Given the description of an element on the screen output the (x, y) to click on. 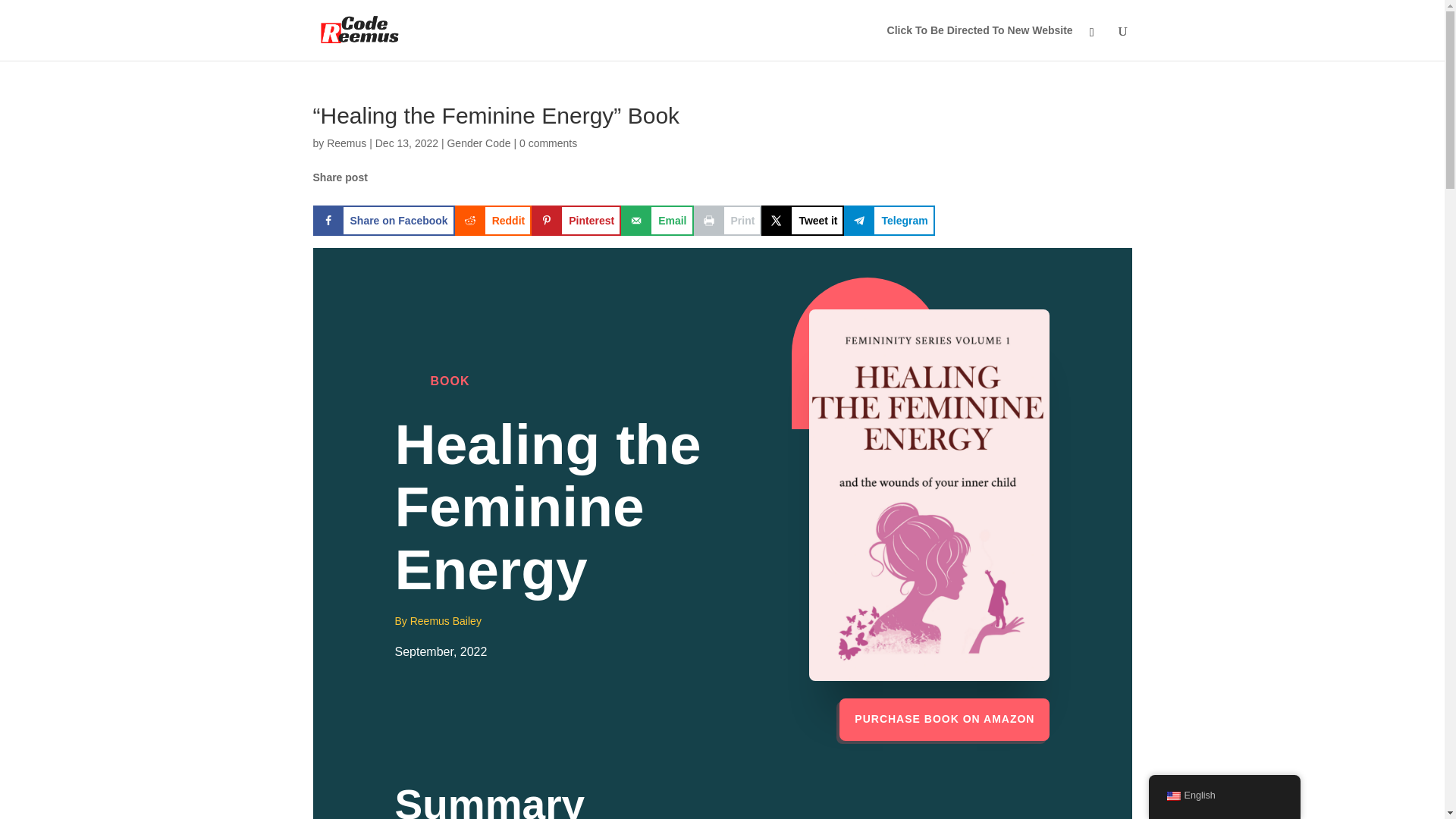
Tweet it (802, 220)
Share on Telegram (889, 220)
Pinterest (576, 220)
BOOK (450, 380)
Reddit (493, 220)
Save to Pinterest (576, 220)
0 comments (547, 143)
Share on X (802, 220)
Share on Facebook (383, 220)
Send over email (657, 220)
